Given the description of an element on the screen output the (x, y) to click on. 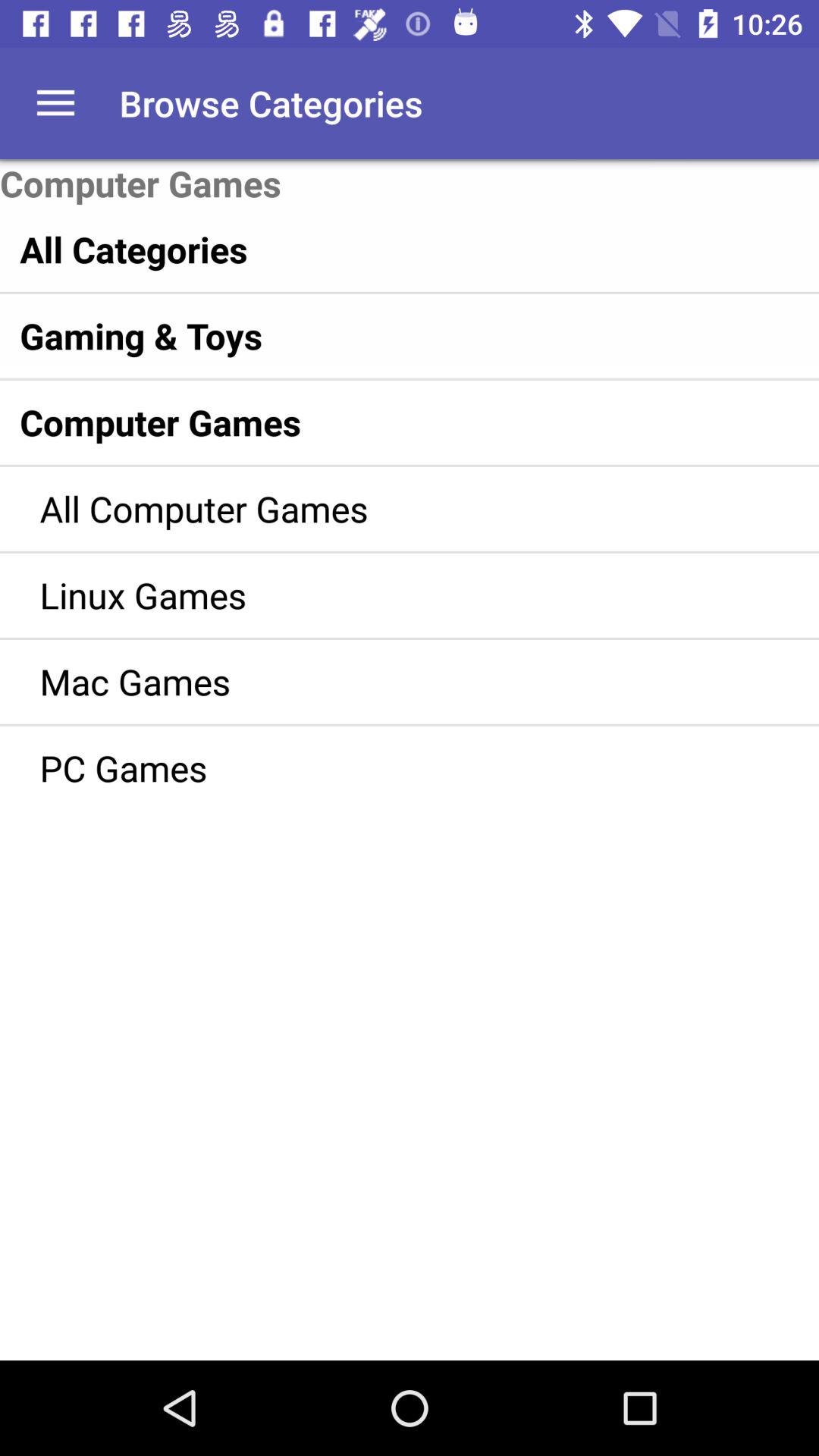
drop down menu (55, 103)
